Given the description of an element on the screen output the (x, y) to click on. 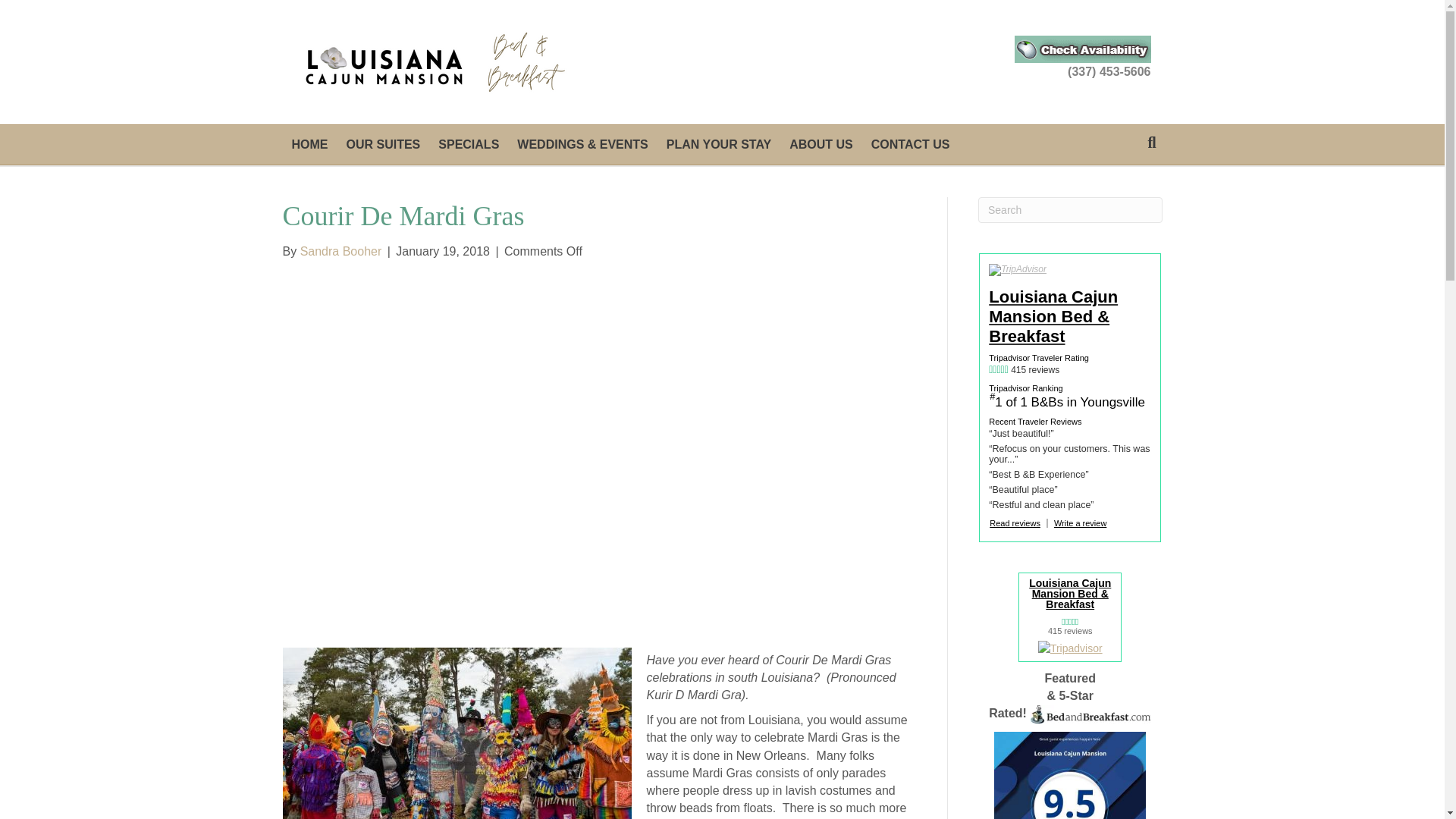
HOME (309, 144)
PLAN YOUR STAY (719, 144)
OUR SUITES (382, 144)
SPECIALS (468, 144)
ABOUT US (820, 144)
Type and press Enter to search. (1069, 209)
